Given the description of an element on the screen output the (x, y) to click on. 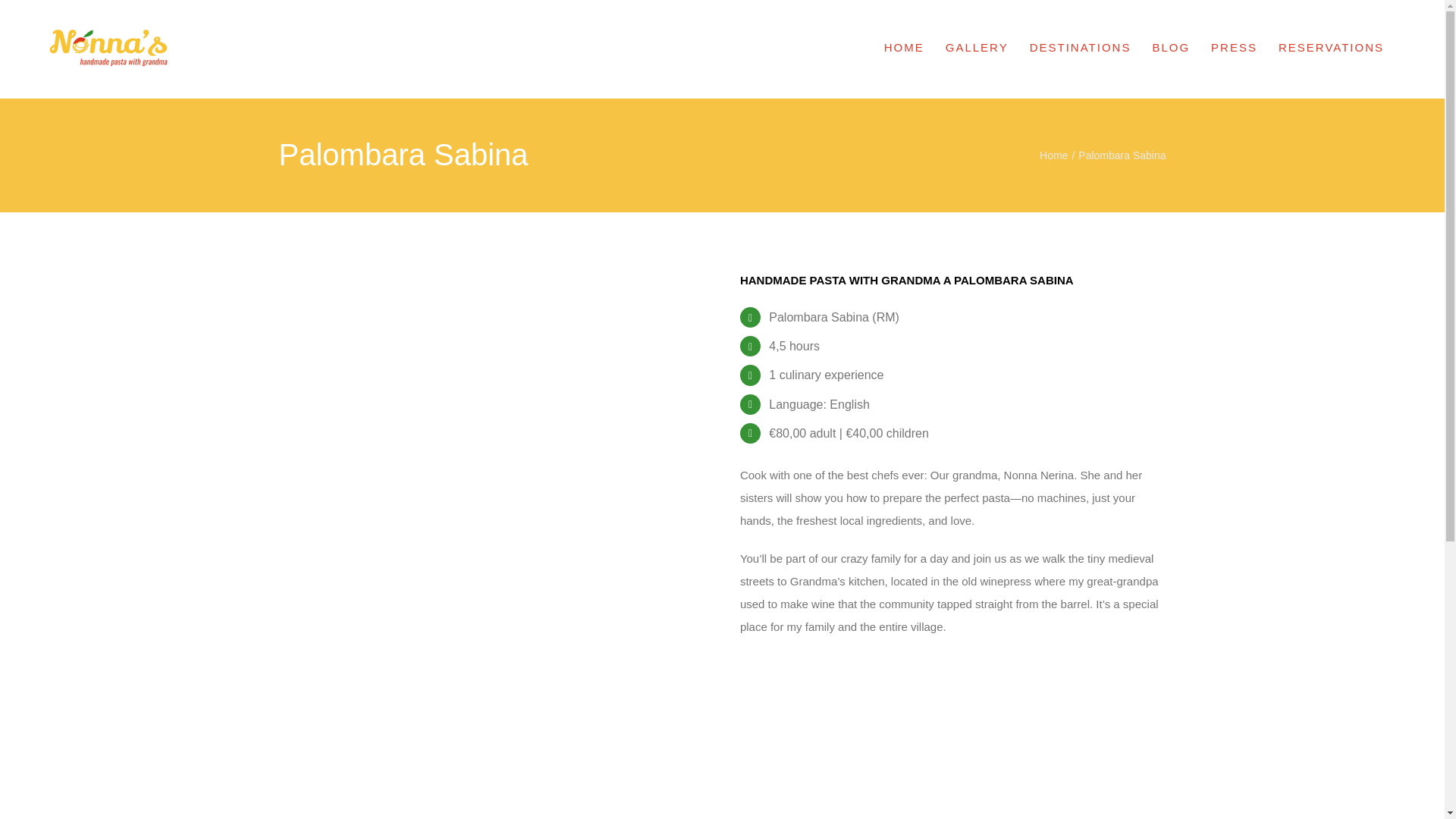
GALLERY (976, 45)
DESTINATIONS (1080, 45)
Home (1053, 155)
RESERVATIONS (1331, 45)
